Given the description of an element on the screen output the (x, y) to click on. 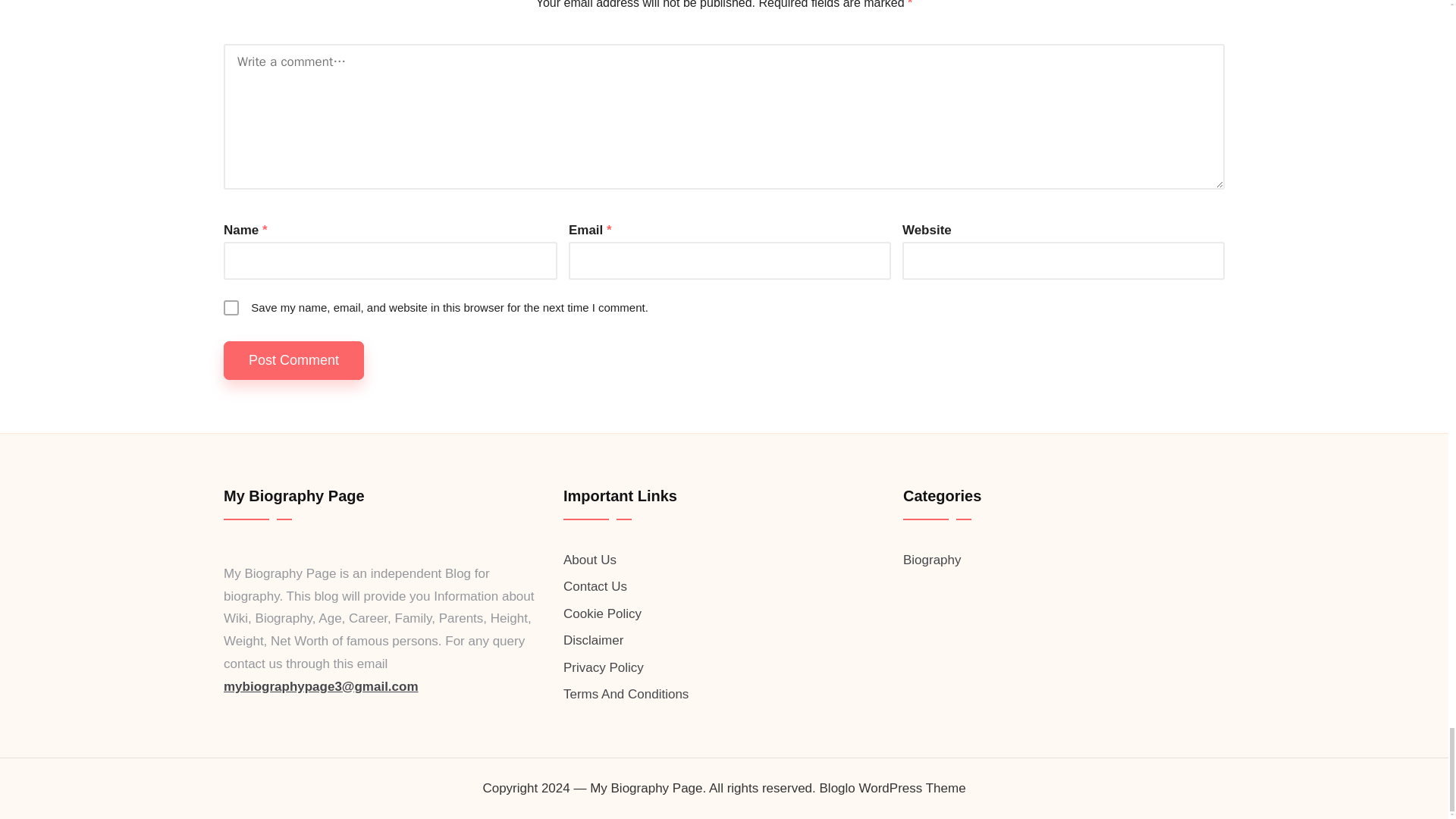
yes (231, 307)
Post Comment (294, 360)
